Given the description of an element on the screen output the (x, y) to click on. 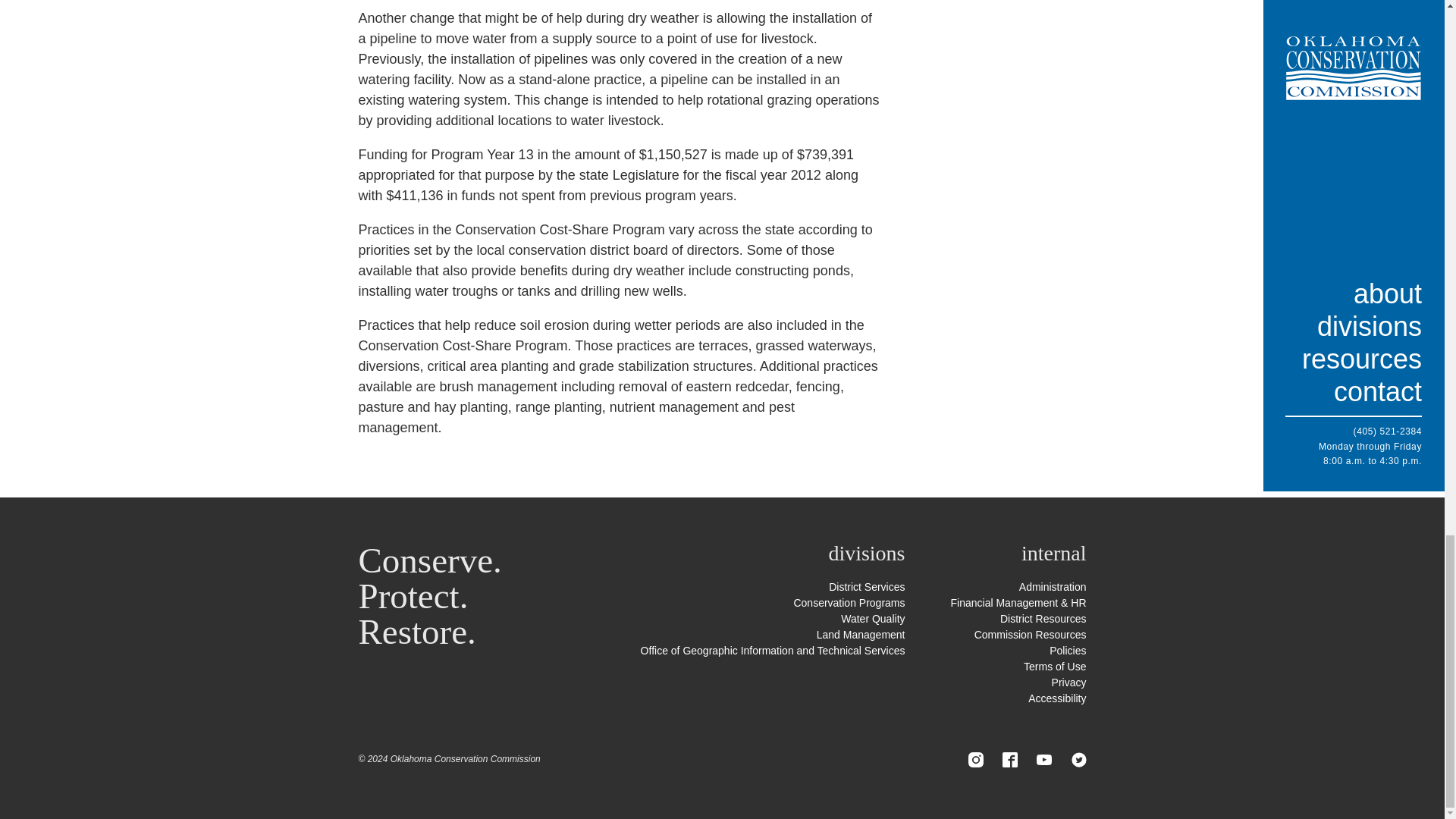
Privacy (1068, 682)
Administration (1052, 586)
Land Management (860, 634)
Terms of Use (1054, 666)
District Resources (1043, 618)
Conservation Programs (848, 603)
Commission Resources (1030, 634)
Policies (1067, 650)
District Services (866, 586)
Water Quality (872, 618)
Office of Geographic Information and Technical Services (772, 650)
Accessibility (1056, 698)
